Given the description of an element on the screen output the (x, y) to click on. 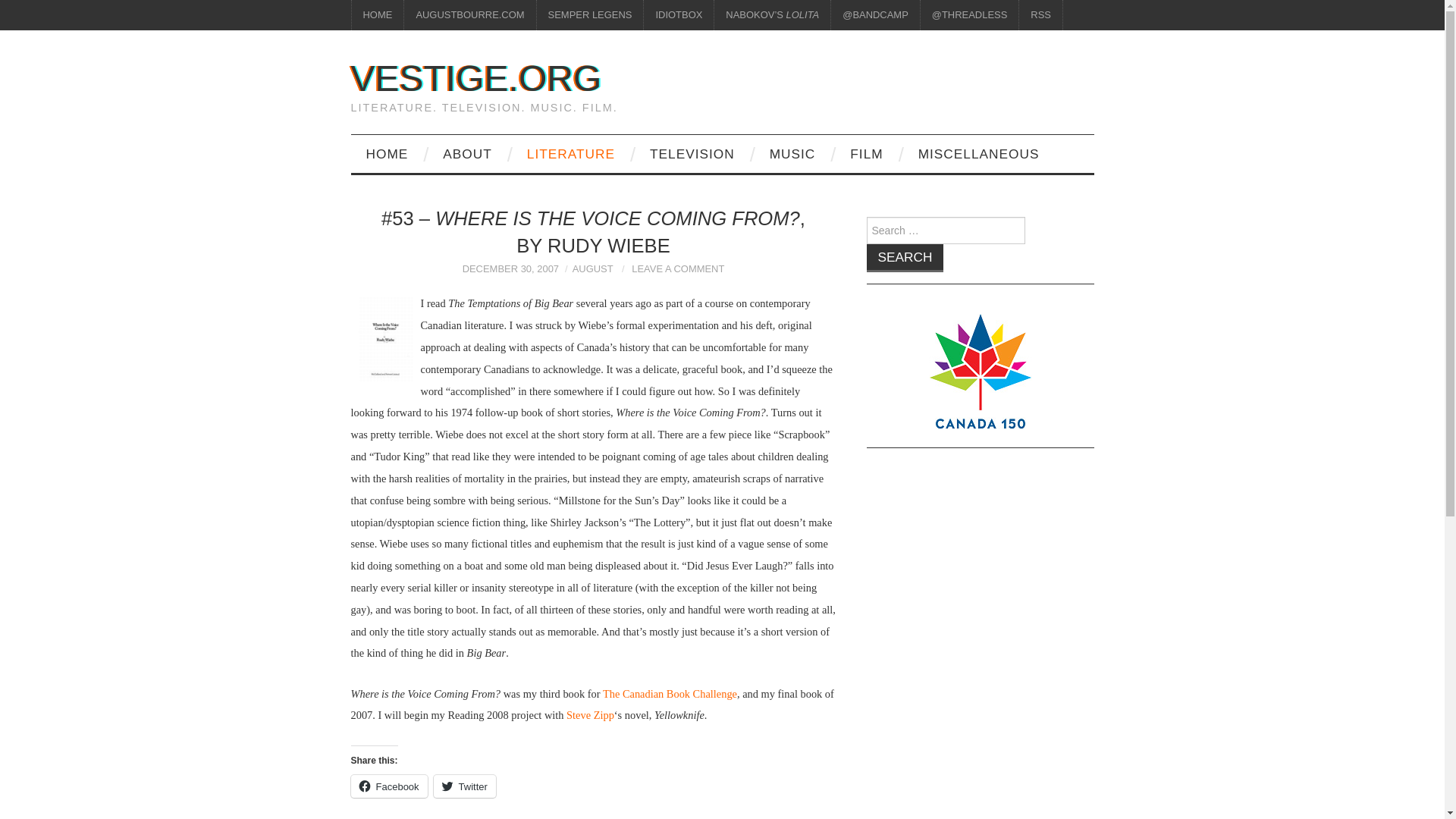
HOME (386, 153)
LEAVE A COMMENT (677, 268)
VESTIGE.ORG (475, 78)
TELEVISION (691, 153)
SEMPER LEGENS (590, 15)
FILM (866, 153)
MUSIC (792, 153)
Click to share on Facebook (388, 785)
AUGUSTBOURRE.COM (469, 15)
AUGUST (592, 268)
IDIOTBOX (678, 15)
MISCELLANEOUS (978, 153)
HOME (378, 15)
RSS (1040, 15)
vestige.org (475, 78)
